Given the description of an element on the screen output the (x, y) to click on. 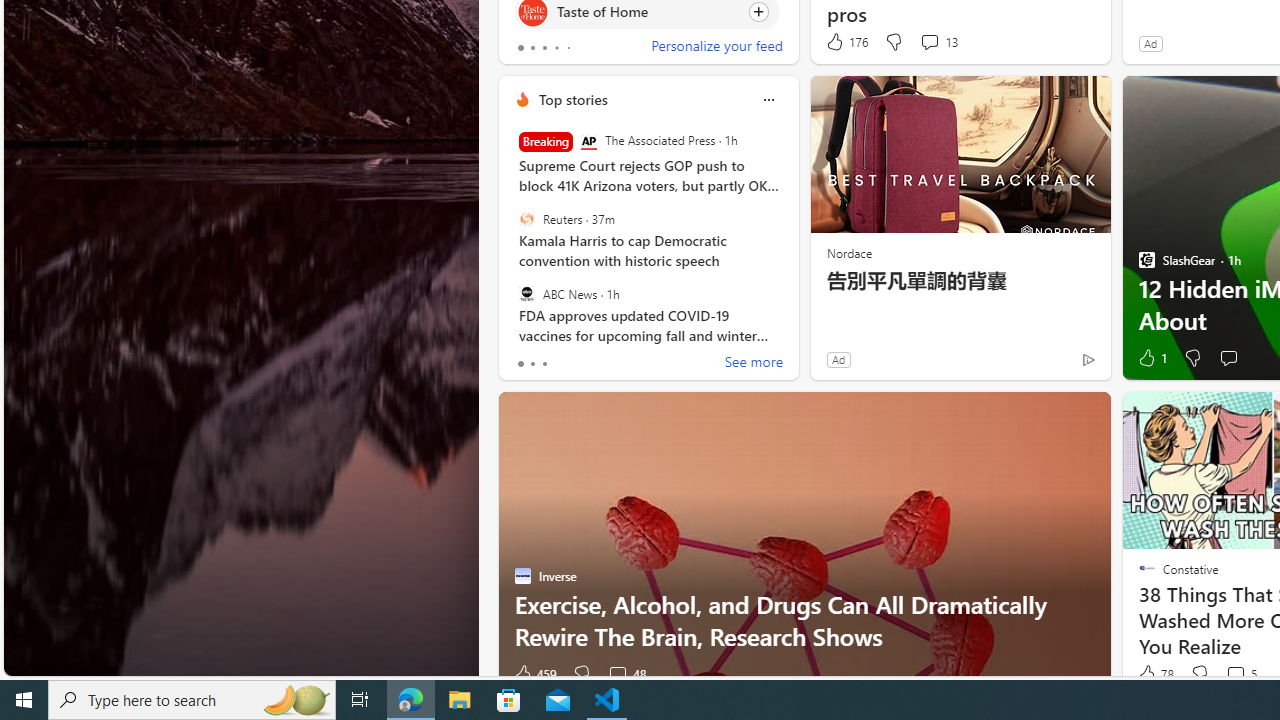
Reuters (526, 219)
Personalize your feed (716, 47)
176 Like (845, 42)
1 Like (1151, 358)
View comments 5 Comment (1234, 673)
View comments 48 Comment (617, 673)
tab-4 (567, 47)
Top stories (572, 99)
